Given the description of an element on the screen output the (x, y) to click on. 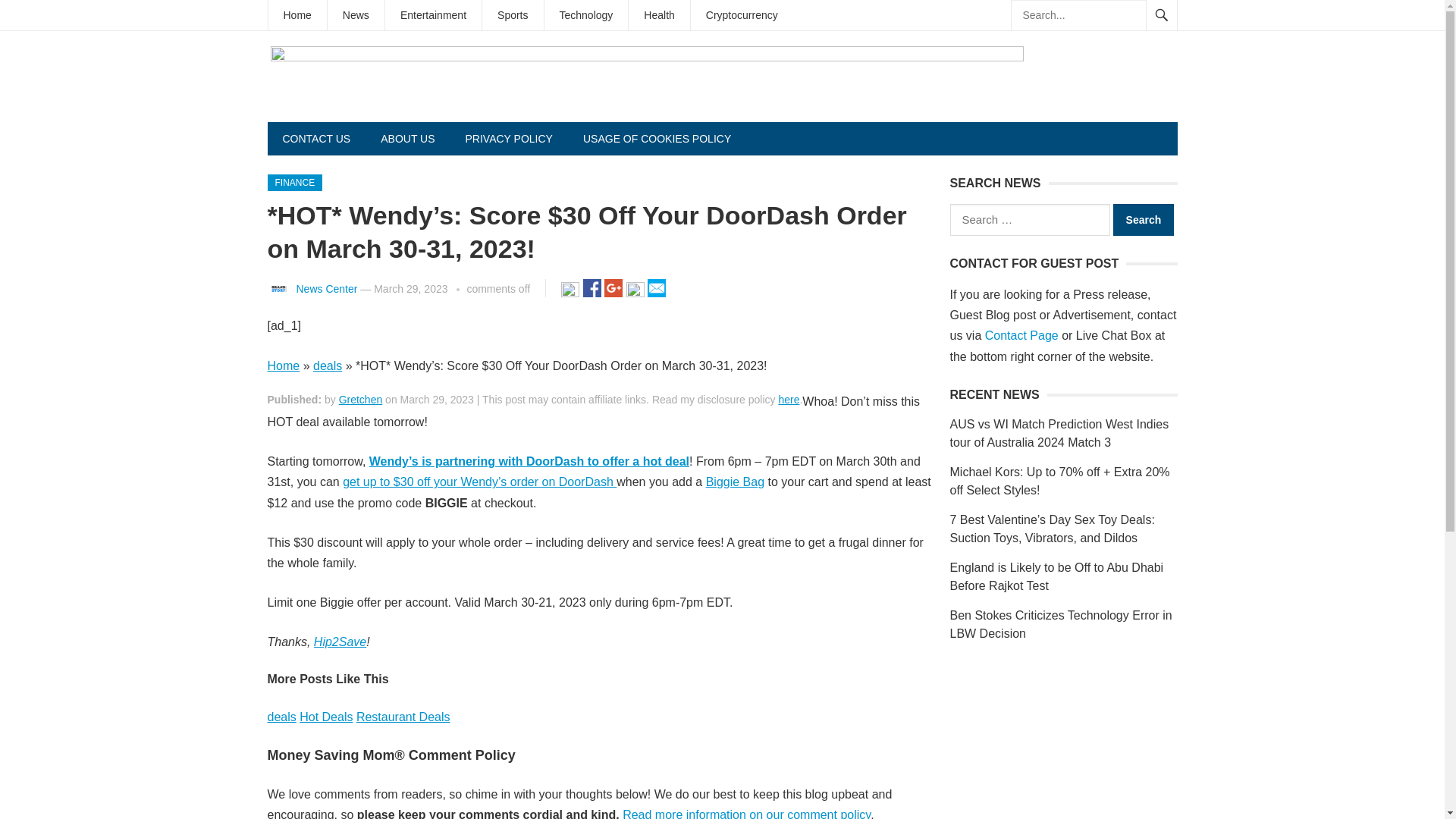
Technology (586, 15)
PRIVACY POLICY (508, 138)
Sports (512, 15)
Home (296, 15)
Health (658, 15)
View all posts in Finance (293, 182)
ABOUT US (407, 138)
USAGE OF COOKIES POLICY (656, 138)
Home (282, 365)
Entertainment (433, 15)
Search (1143, 219)
Posts by News Center (325, 288)
CONTACT US (315, 138)
Search (1143, 219)
FINANCE (293, 182)
